Given the description of an element on the screen output the (x, y) to click on. 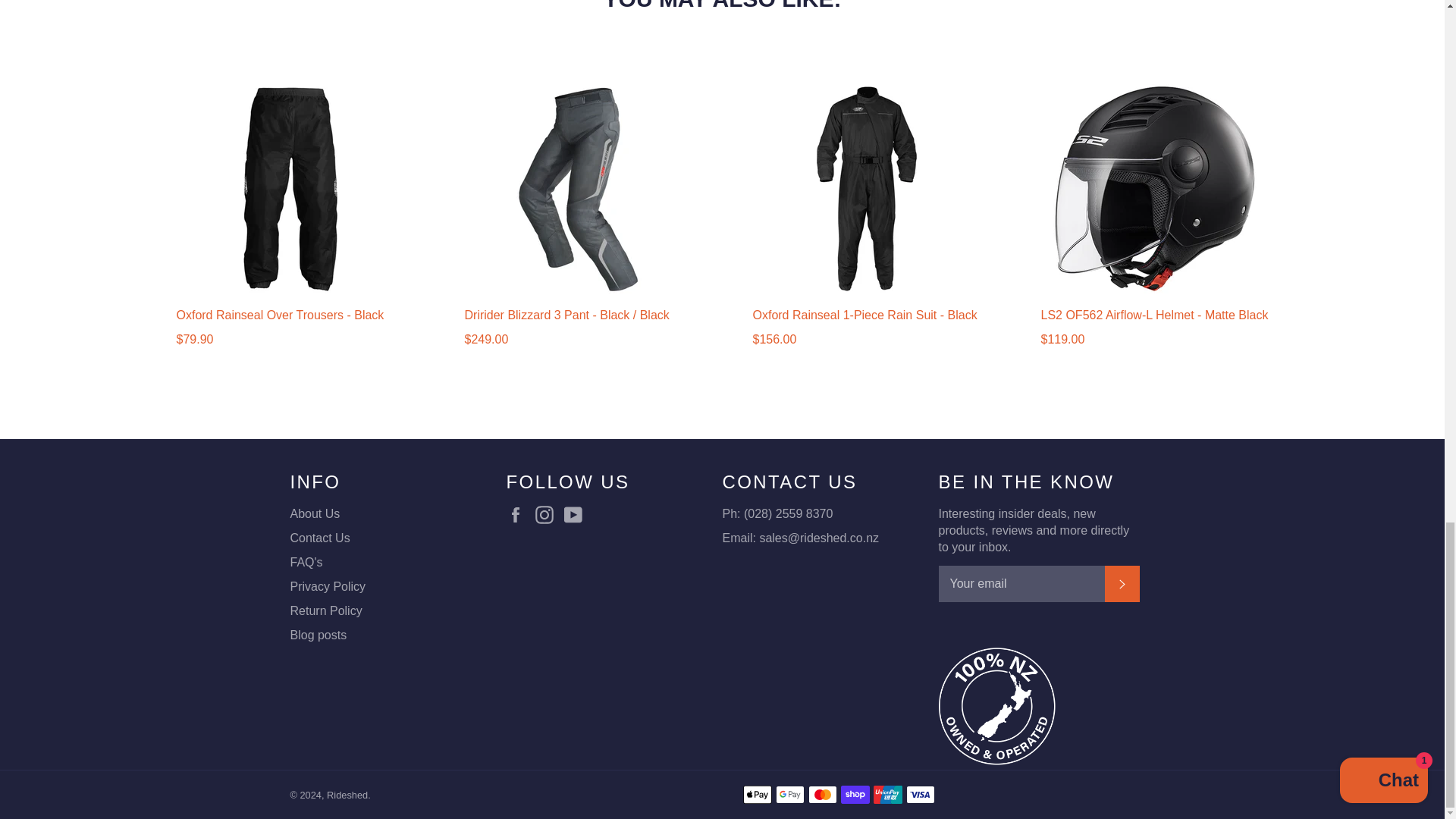
Rideshed on Facebook (519, 515)
Rideshed on YouTube (576, 515)
Rideshed on Instagram (547, 515)
